Given the description of an element on the screen output the (x, y) to click on. 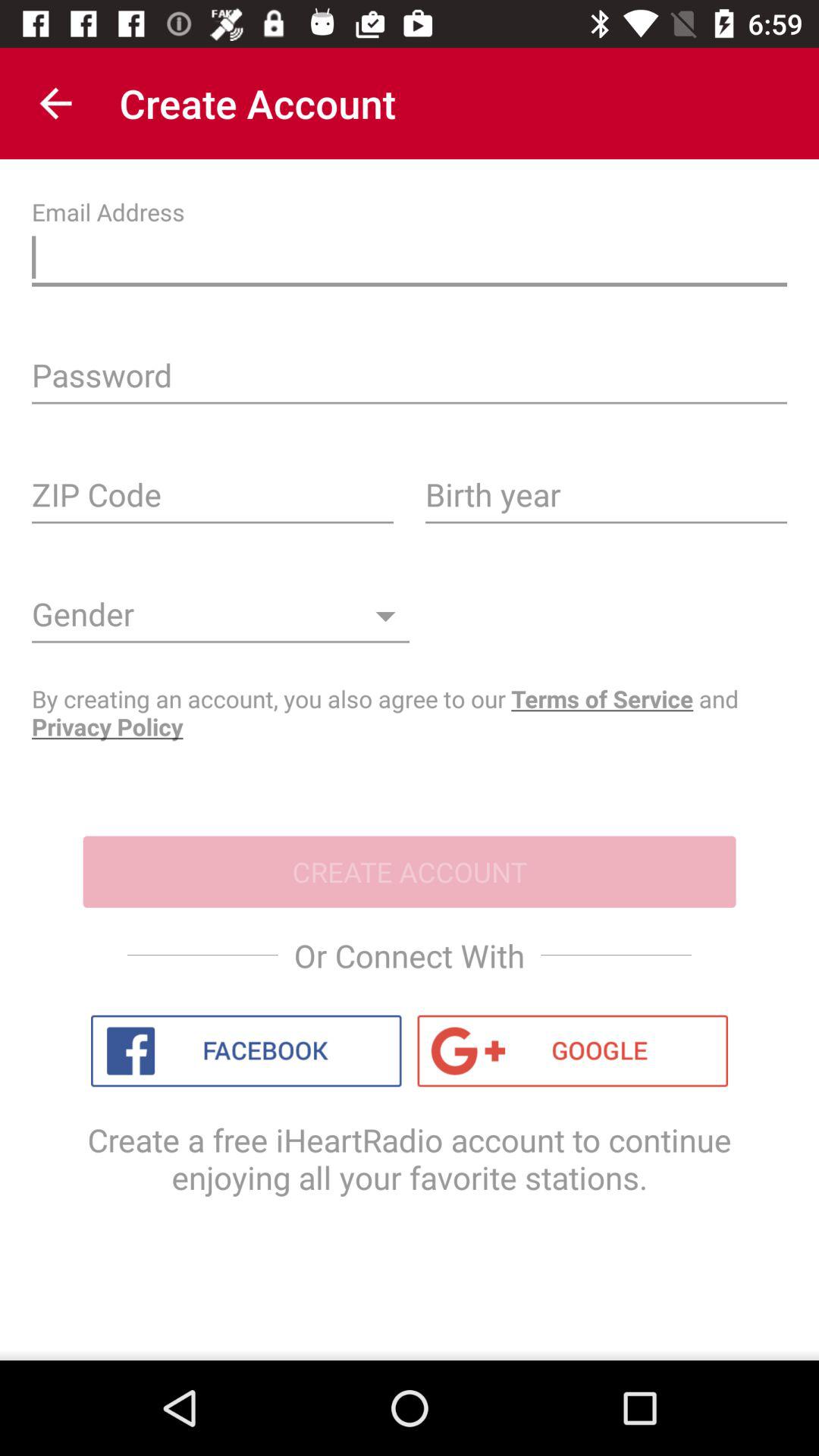
enter birth year (606, 499)
